Given the description of an element on the screen output the (x, y) to click on. 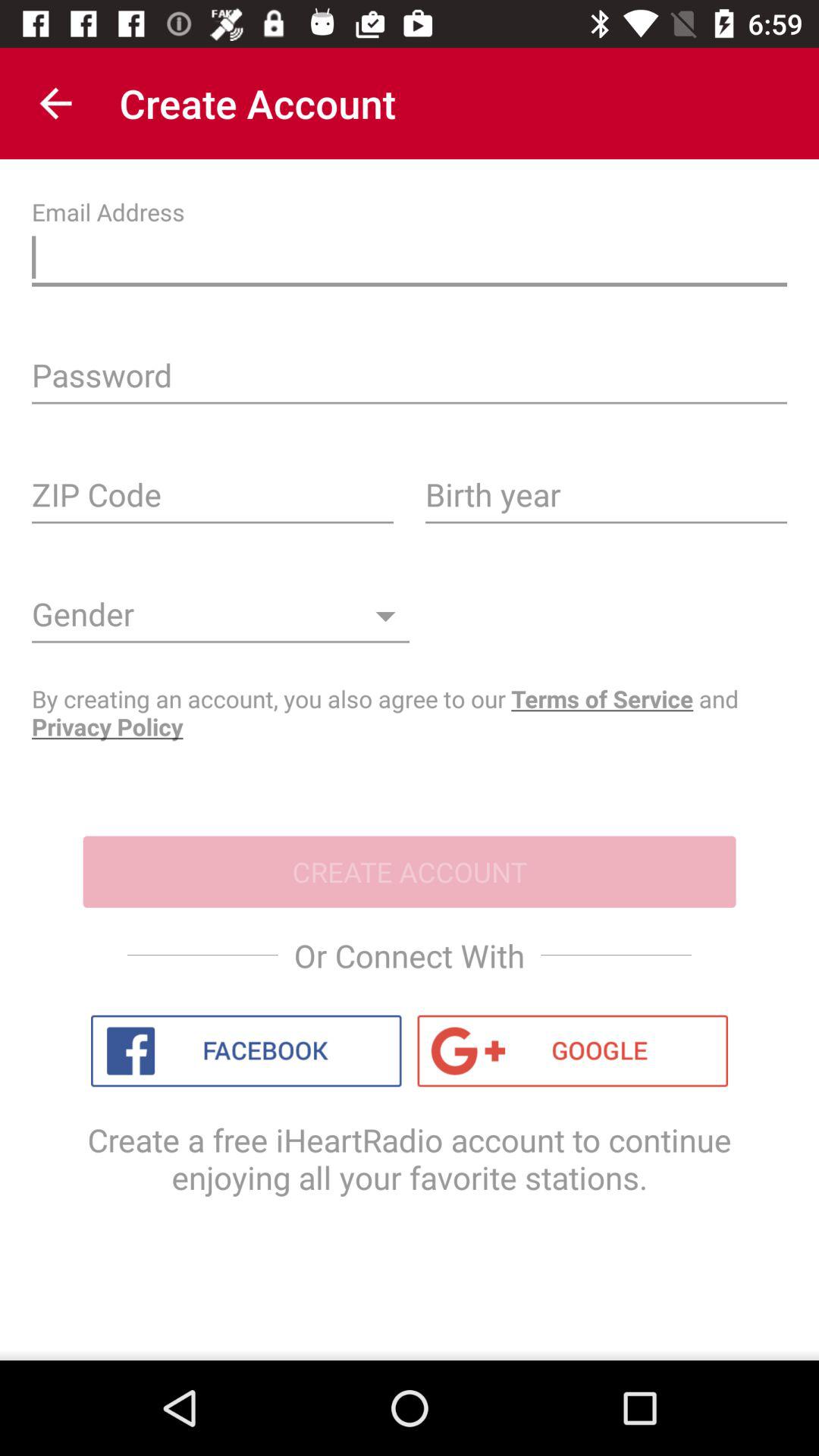
enter birth year (606, 499)
